Given the description of an element on the screen output the (x, y) to click on. 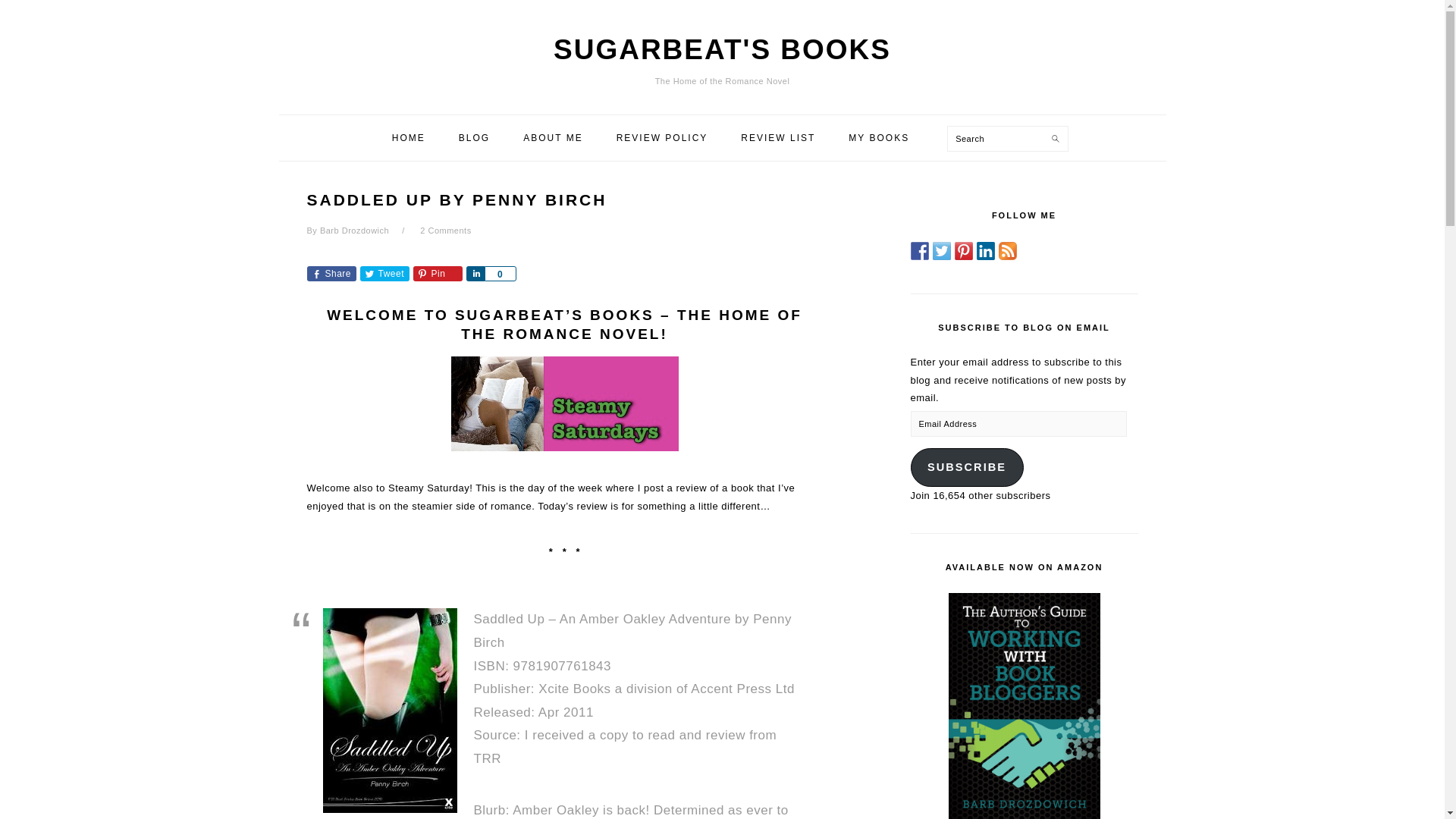
Our board on Pinterest (962, 250)
Share (474, 273)
ABOUT ME (552, 137)
2 Comments (445, 230)
Follow us on Twitter (941, 250)
REVIEW POLICY (661, 137)
Barb Drozdowich (354, 230)
Share (330, 273)
Subscribe to our RSS Feed (1006, 250)
Find us on Linkedin (985, 250)
Available Now on Amazon (1023, 705)
Tweet (384, 273)
Follow us on Facebook (919, 250)
MY BOOKS (878, 137)
